Given the description of an element on the screen output the (x, y) to click on. 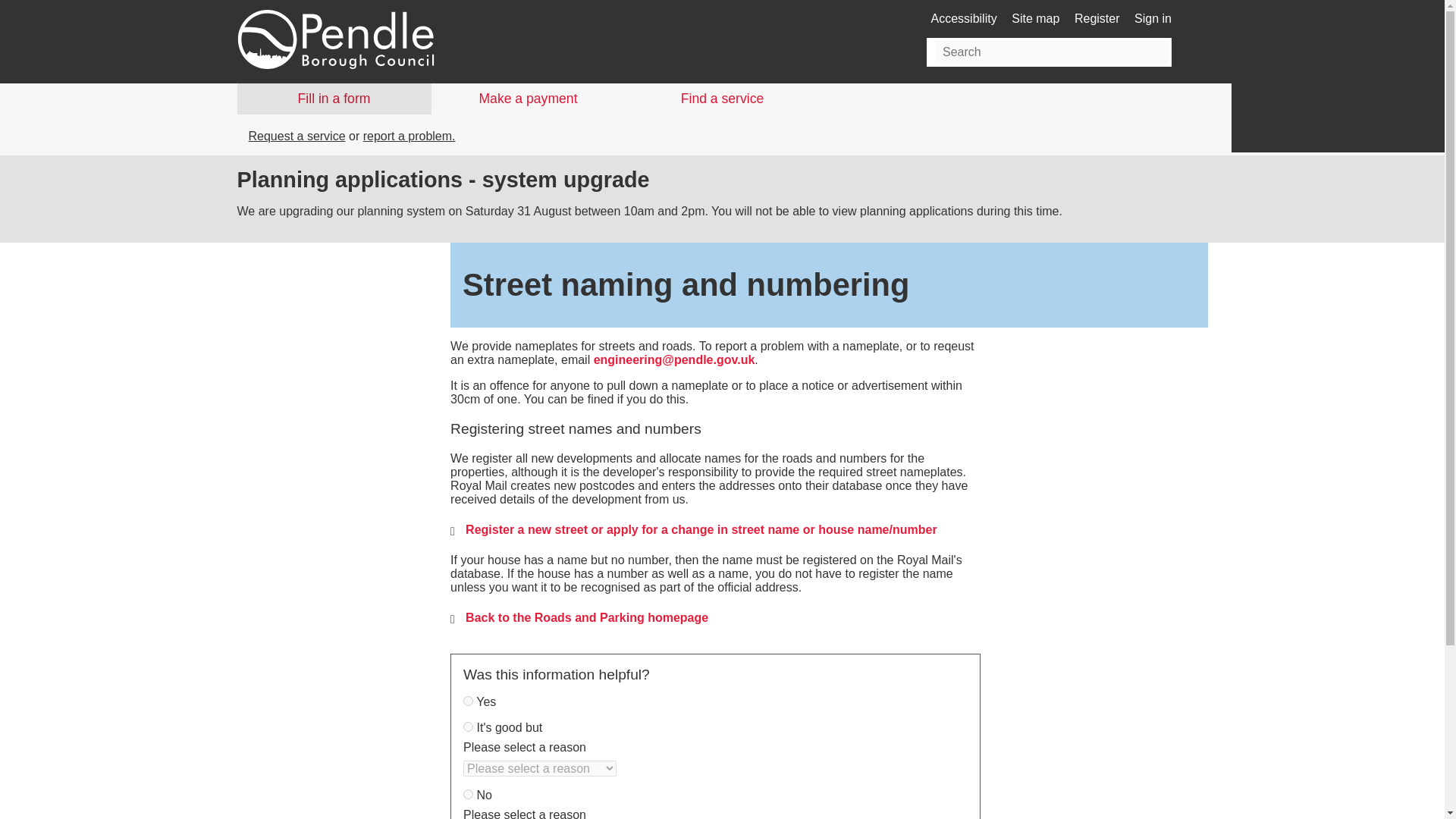
0 (468, 726)
Find a service (721, 98)
report a problem. (408, 135)
Back to the Roads and Parking homepage (586, 617)
Request a service (297, 135)
1 (468, 700)
Accessibility (964, 18)
Sign in (1153, 18)
-1 (468, 794)
Go (1149, 51)
